Given the description of an element on the screen output the (x, y) to click on. 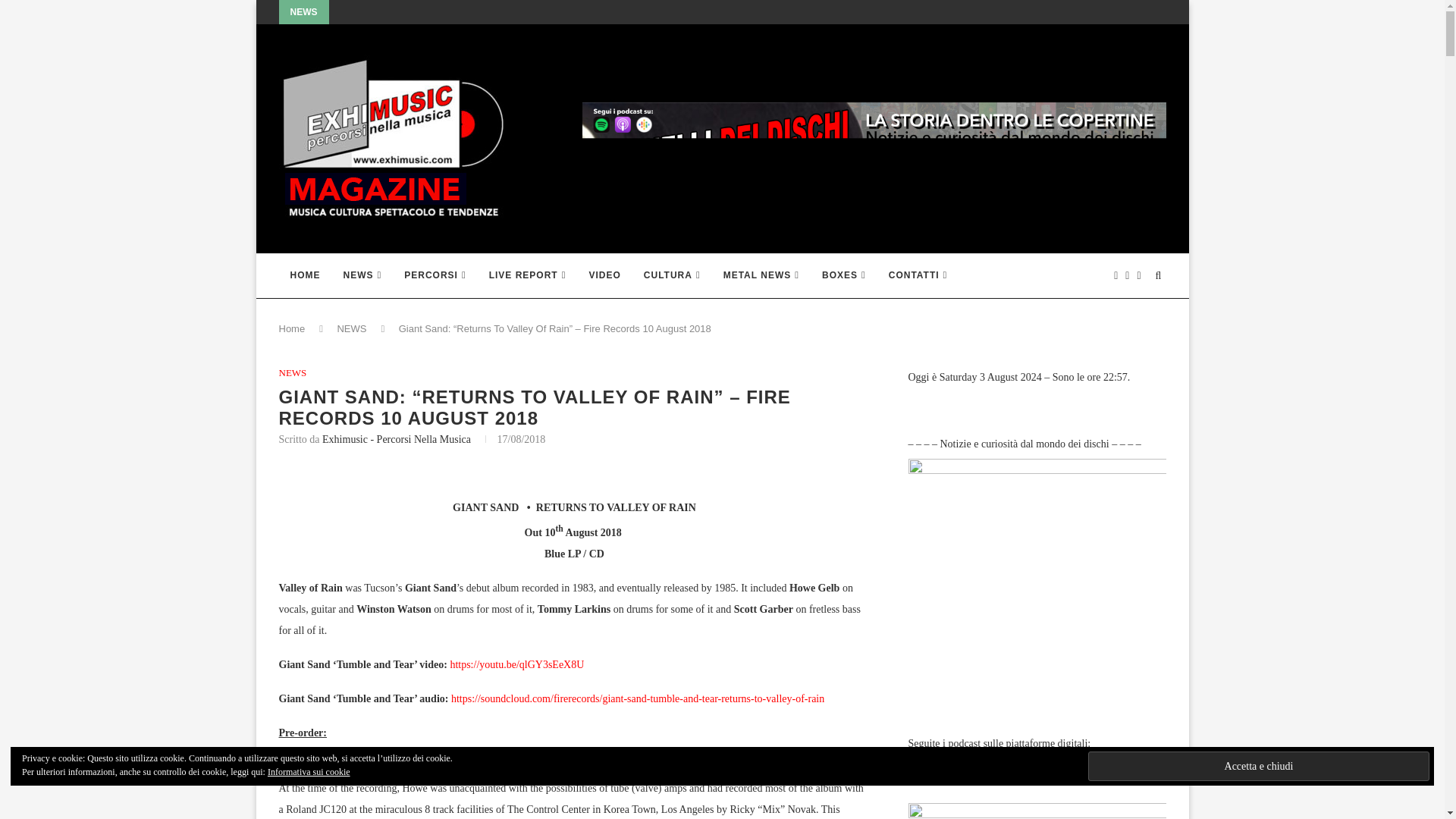
Accetta e chiudi (1258, 766)
